Given the description of an element on the screen output the (x, y) to click on. 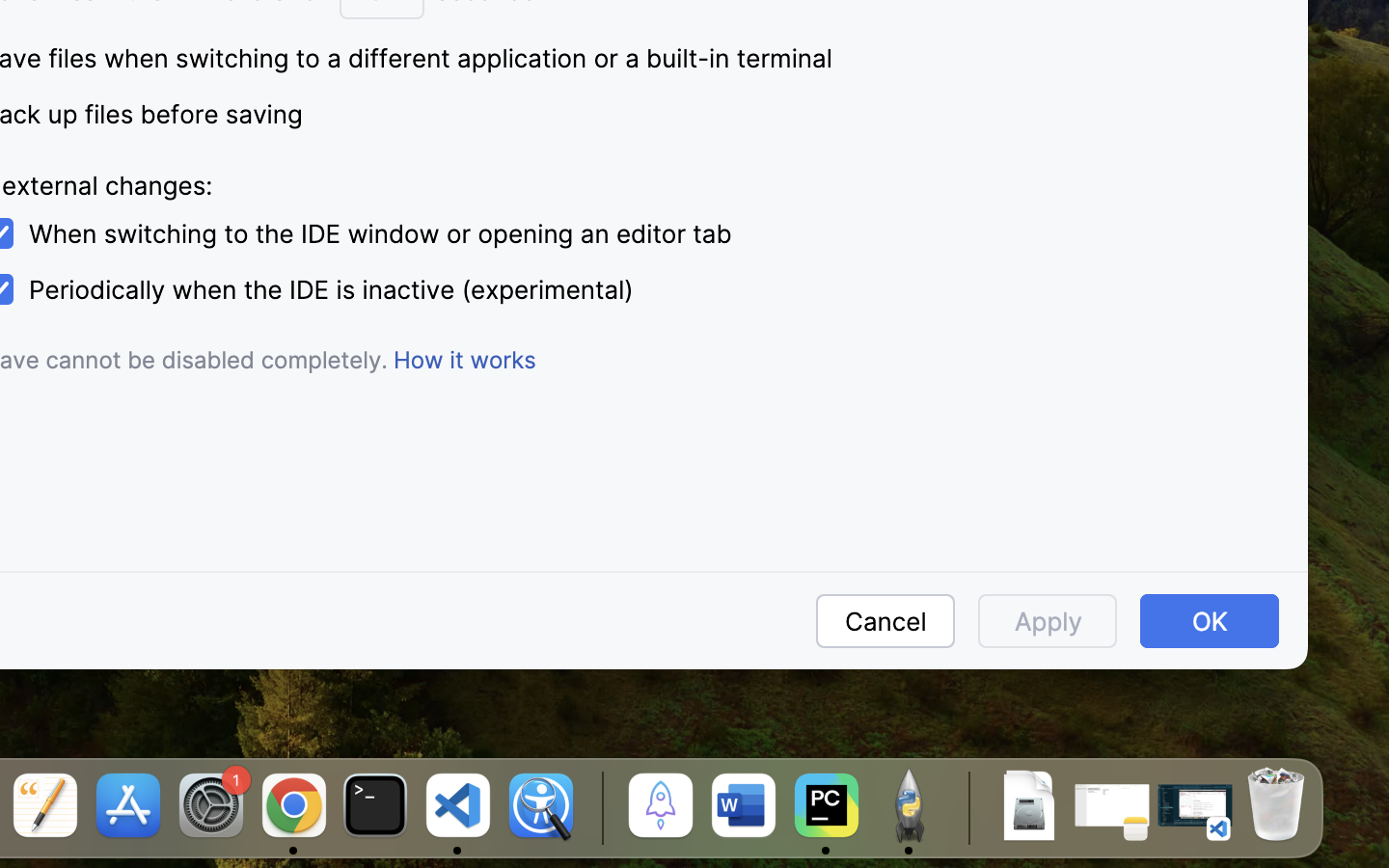
0.4285714328289032 Element type: AXDockItem (598, 807)
